Given the description of an element on the screen output the (x, y) to click on. 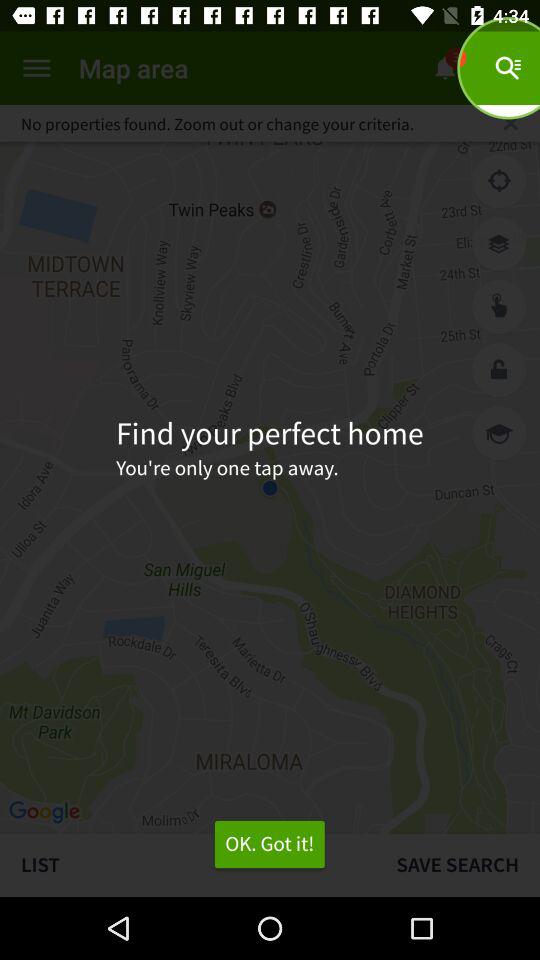
swipe until the ok. got it! (269, 844)
